Given the description of an element on the screen output the (x, y) to click on. 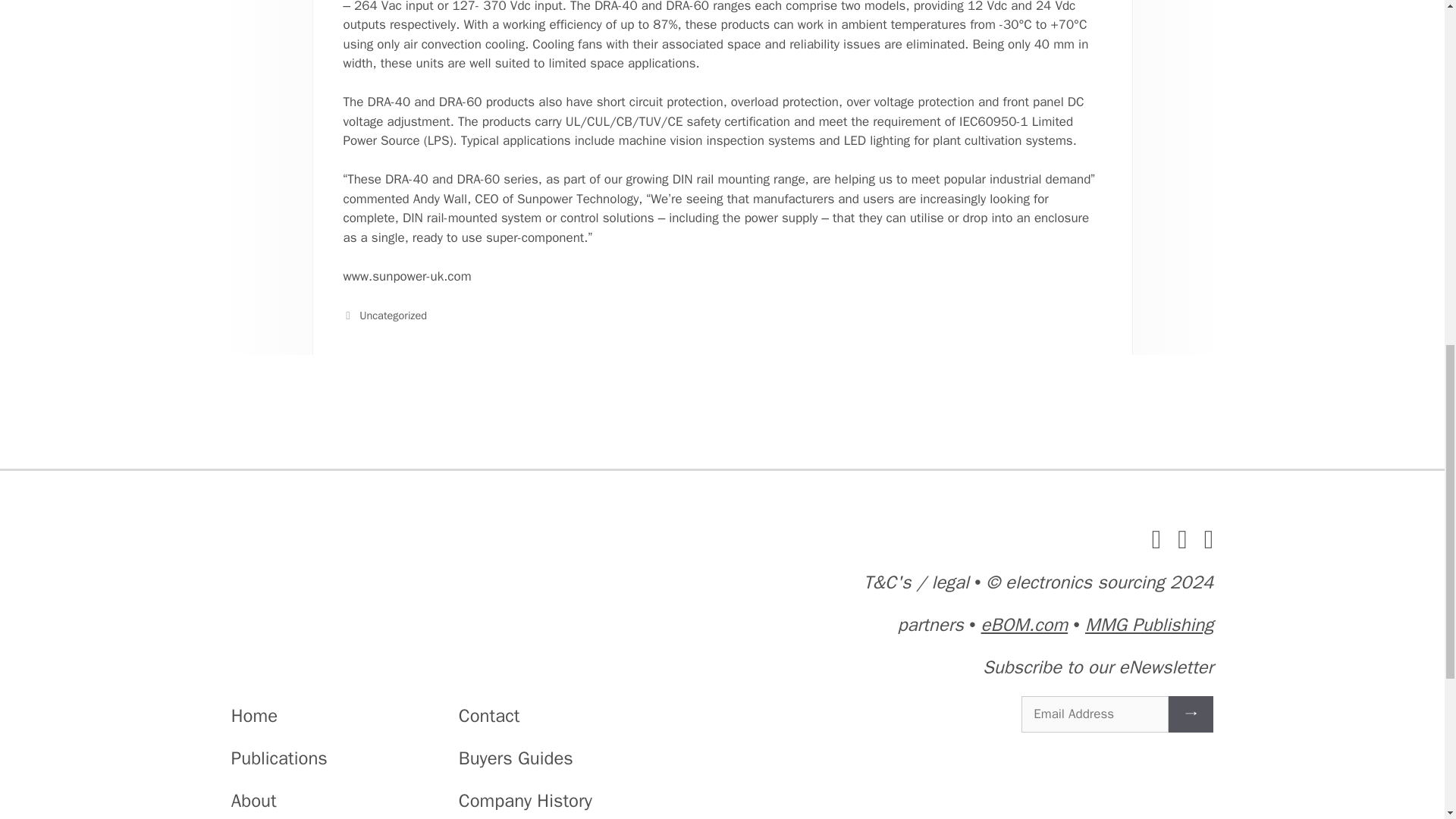
www.sunpower-uk.com (406, 276)
